Given the description of an element on the screen output the (x, y) to click on. 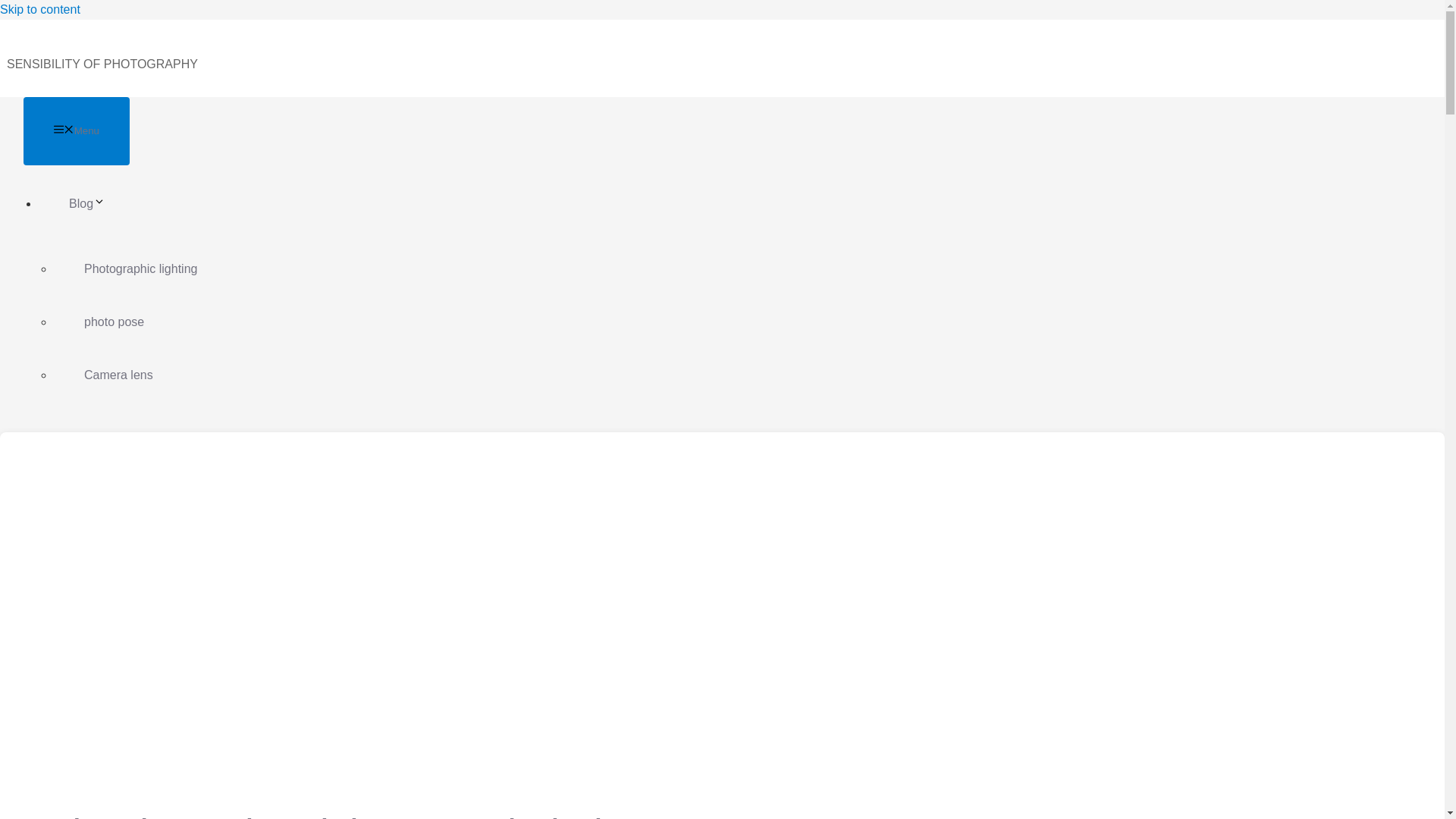
Photographic lighting (140, 268)
Skip to content (40, 9)
SENSIBILITY OF PHOTOGRAPHY (102, 63)
Blog (102, 203)
Menu (76, 131)
Camera lens (118, 374)
photo pose (113, 321)
Skip to content (40, 9)
